Given the description of an element on the screen output the (x, y) to click on. 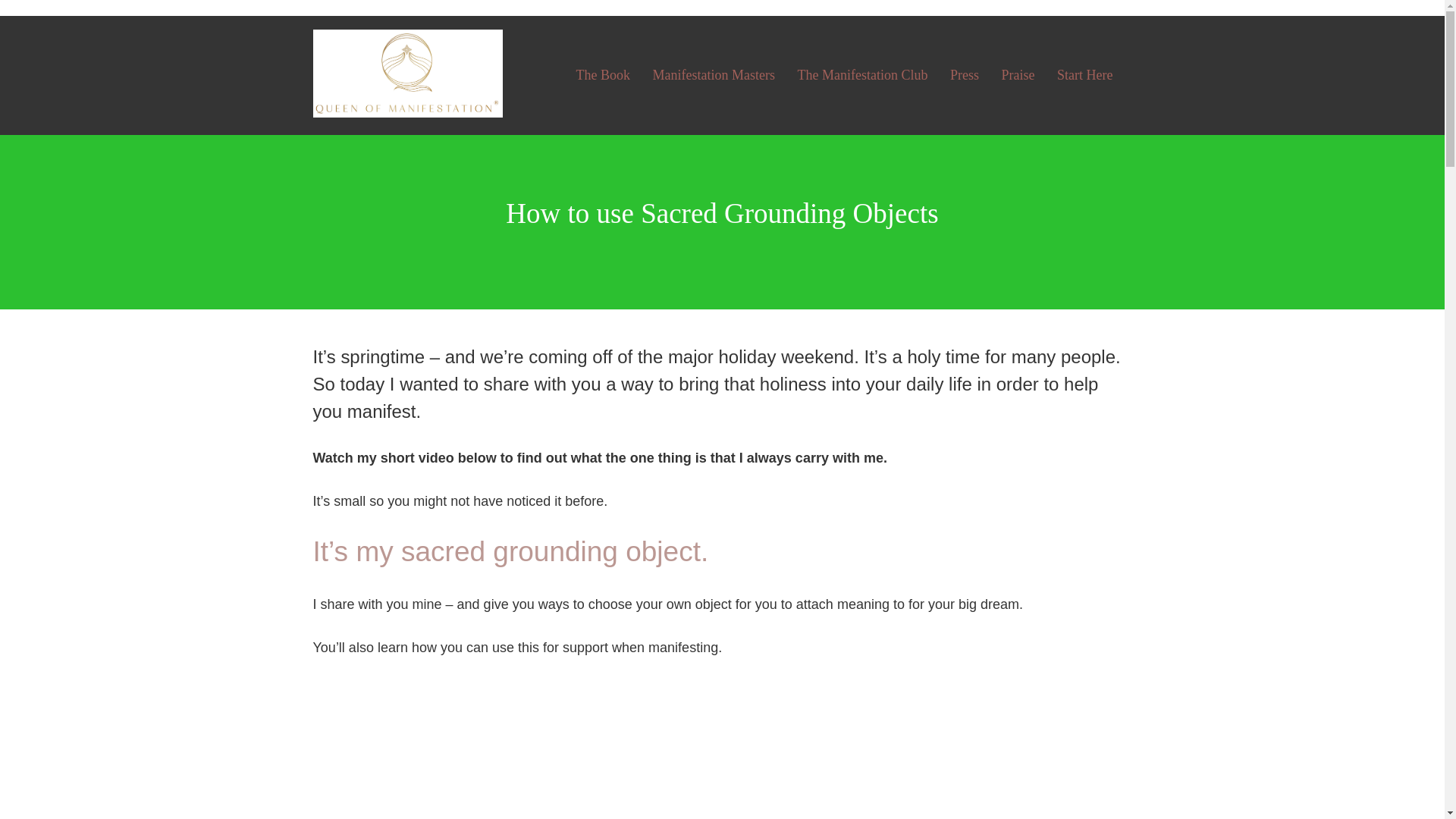
Praise (1018, 75)
The Manifestation Club (862, 75)
Start Here (1084, 75)
Manifestation Masters (713, 75)
The Book (603, 75)
Press (964, 75)
